Given the description of an element on the screen output the (x, y) to click on. 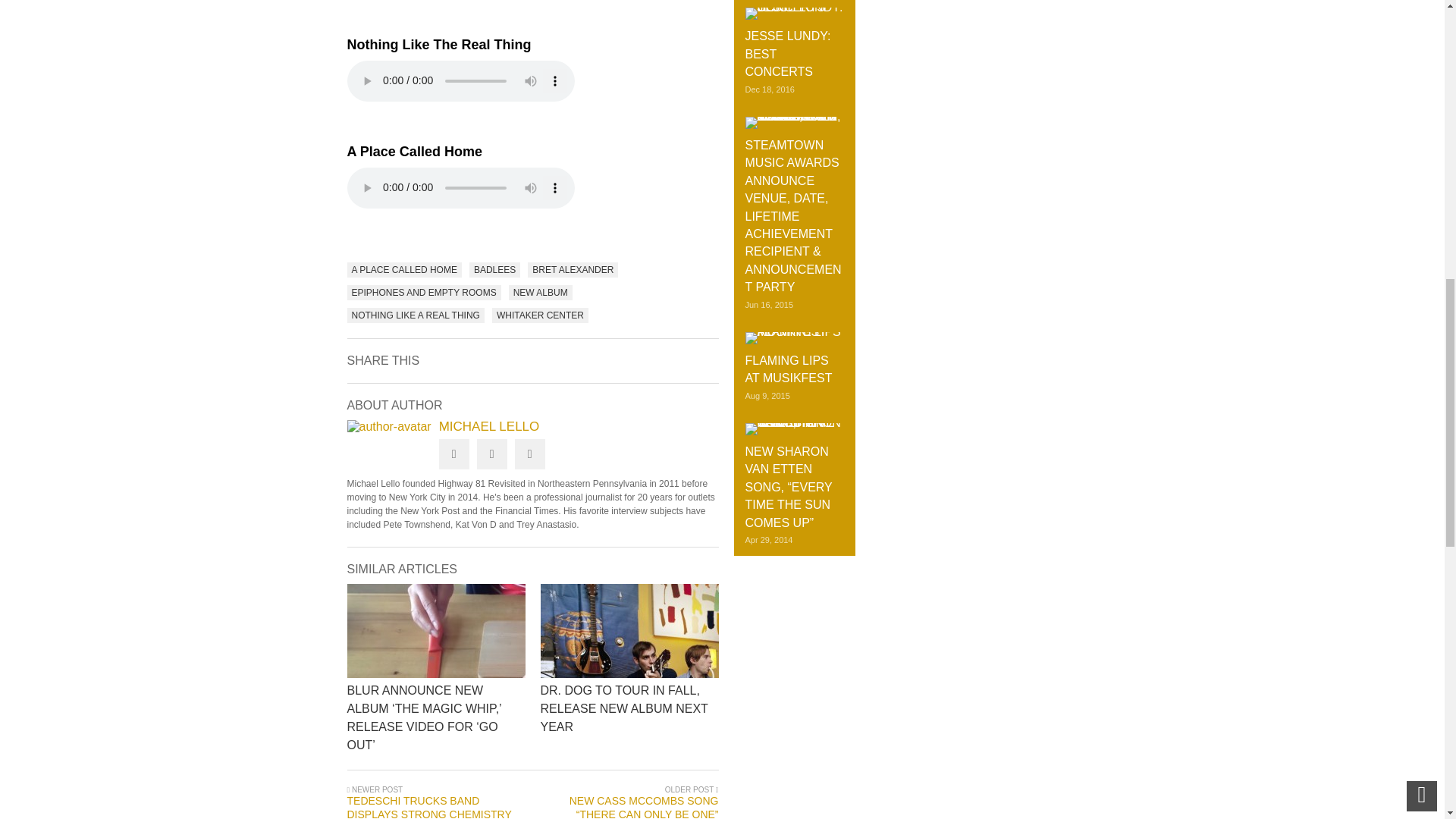
Posted by Michael Lello (533, 426)
Click to read (436, 630)
A PLACE CALLED HOME (404, 269)
Facebook (491, 453)
Twitter (453, 453)
Google Plus (529, 453)
BADLEES (493, 269)
Posted byMichael Lello  (388, 426)
